Given the description of an element on the screen output the (x, y) to click on. 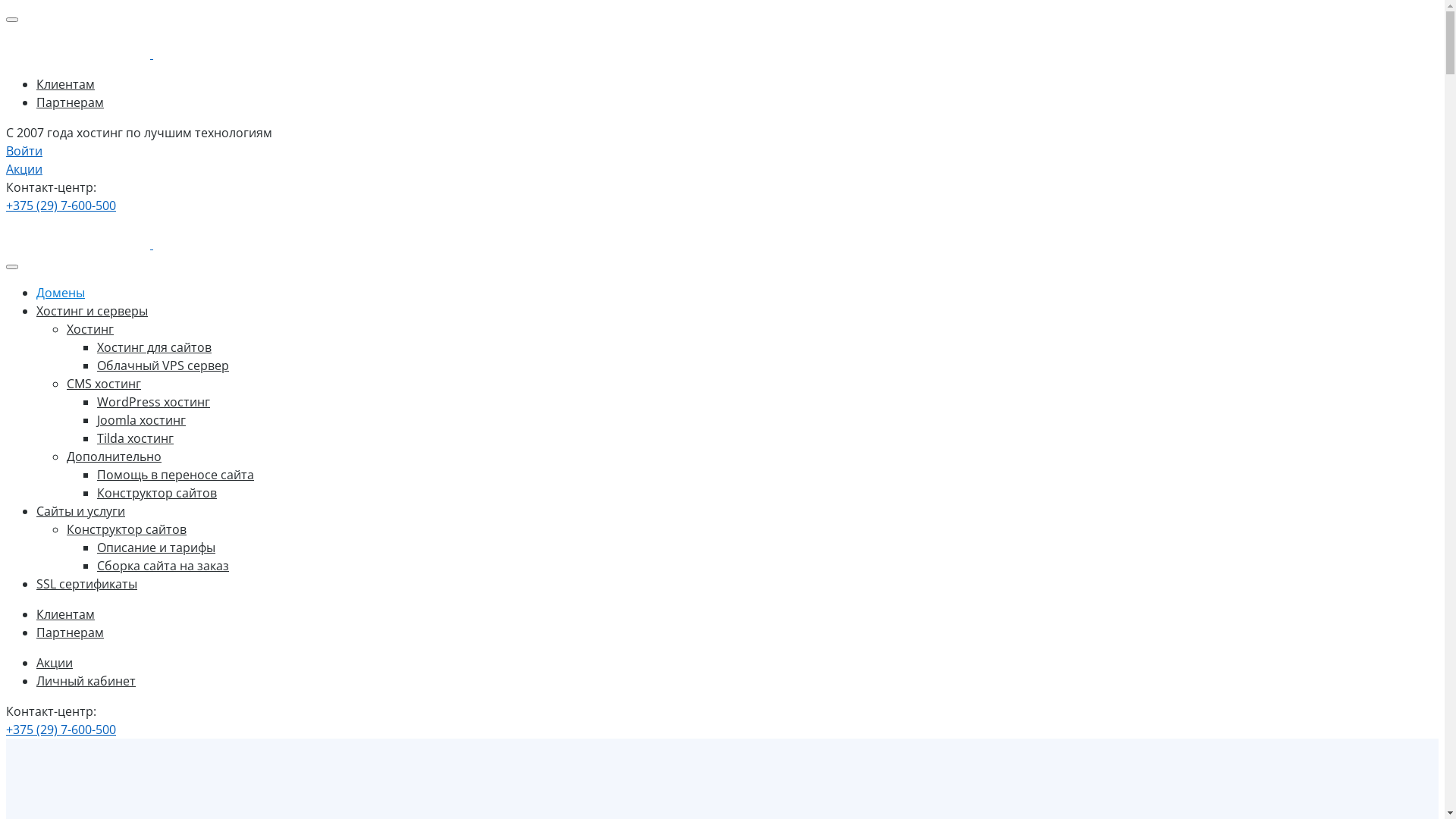
+375 (29) 7-600-500 Element type: text (61, 205)
+375 (29) 7-600-500 Element type: text (61, 729)
